Given the description of an element on the screen output the (x, y) to click on. 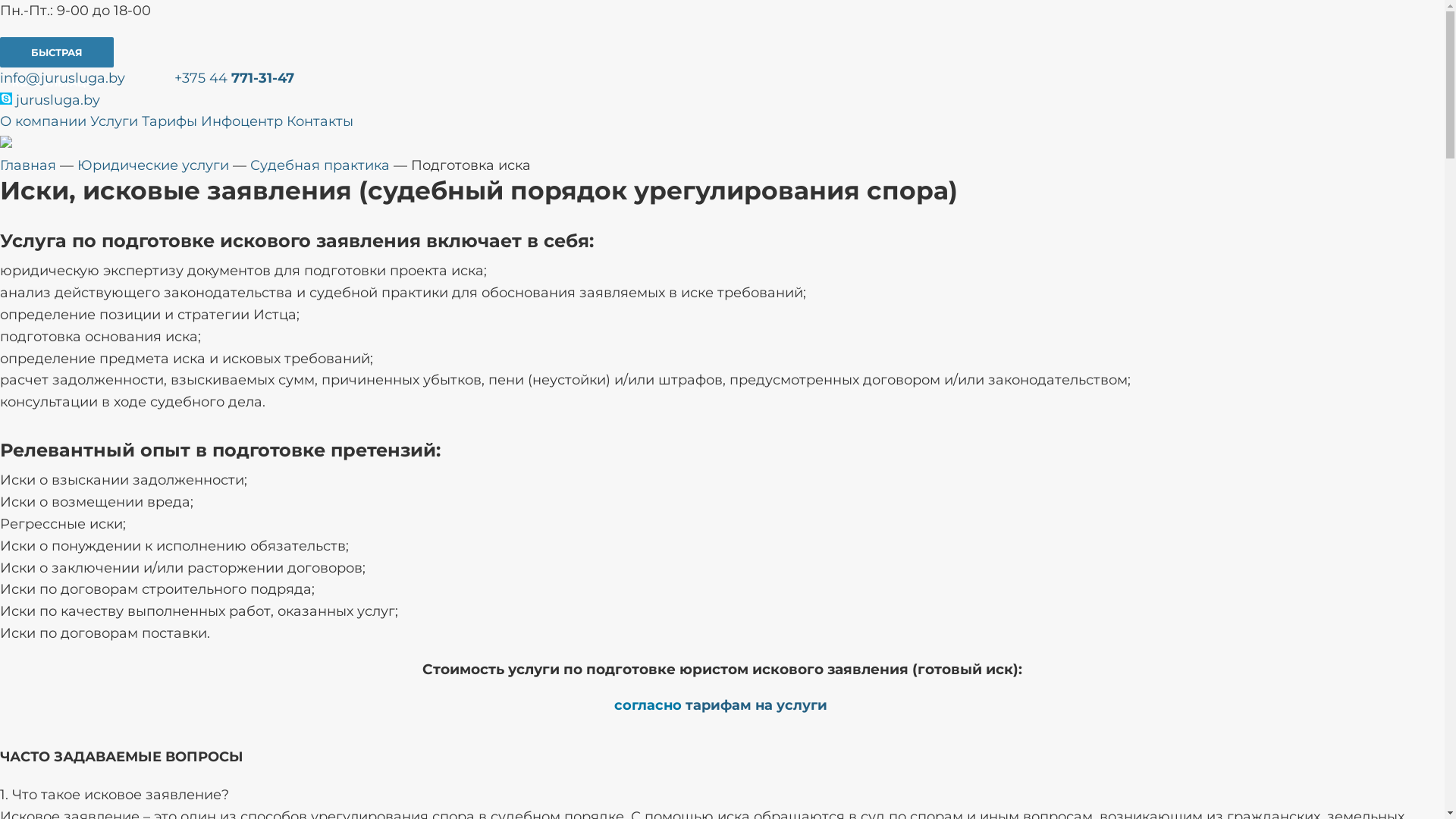
  Element type: text (828, 704)
+375 44 771-31-47 Element type: text (234, 77)
info@jurusluga.by Element type: text (62, 77)
jurusluga.by Element type: text (50, 99)
